Given the description of an element on the screen output the (x, y) to click on. 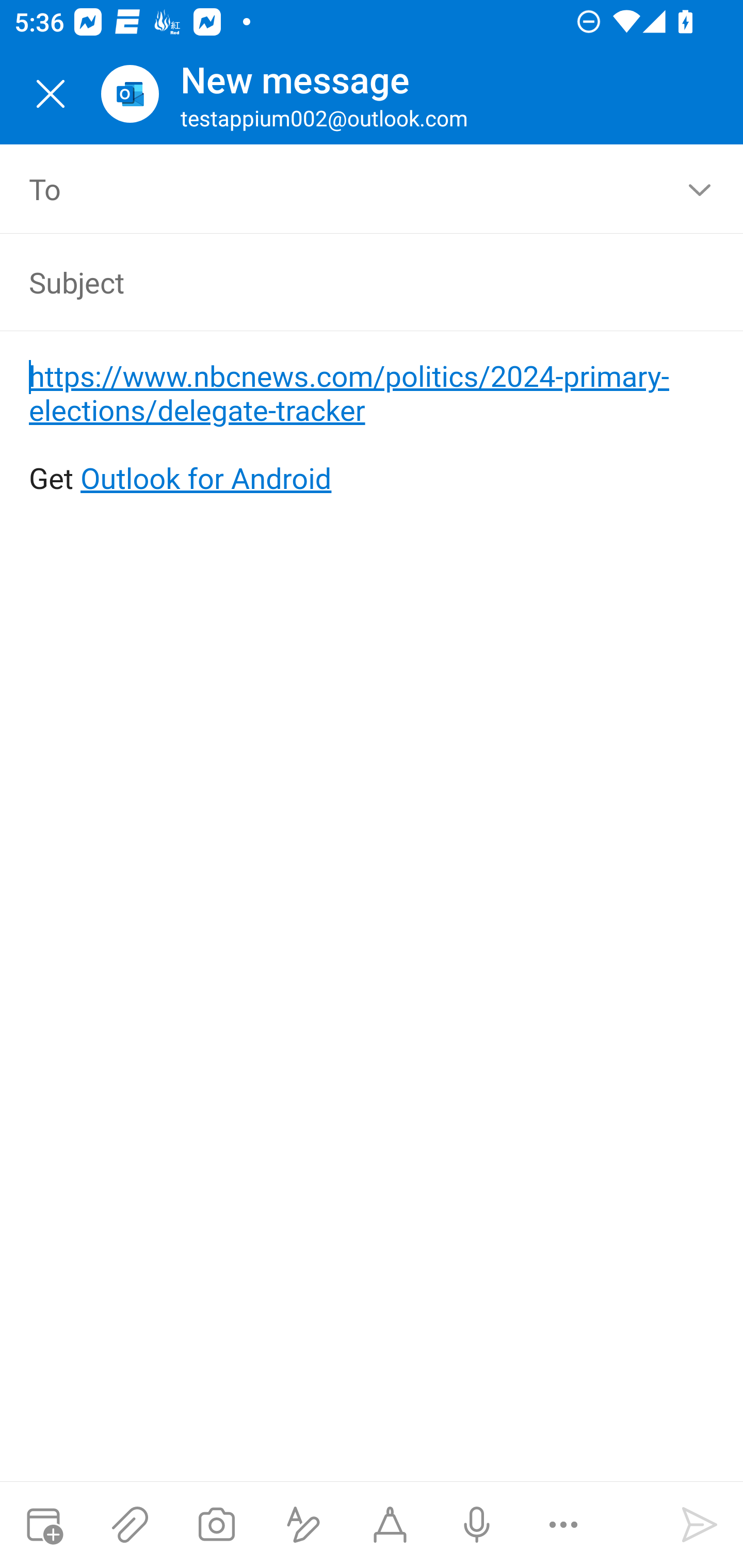
Close (50, 93)
Subject (342, 281)
Attach meeting (43, 1524)
Attach files (129, 1524)
Take a photo (216, 1524)
Show formatting options (303, 1524)
Start Ink compose (389, 1524)
Dictation (476, 1524)
More options (563, 1524)
Send (699, 1524)
